Given the description of an element on the screen output the (x, y) to click on. 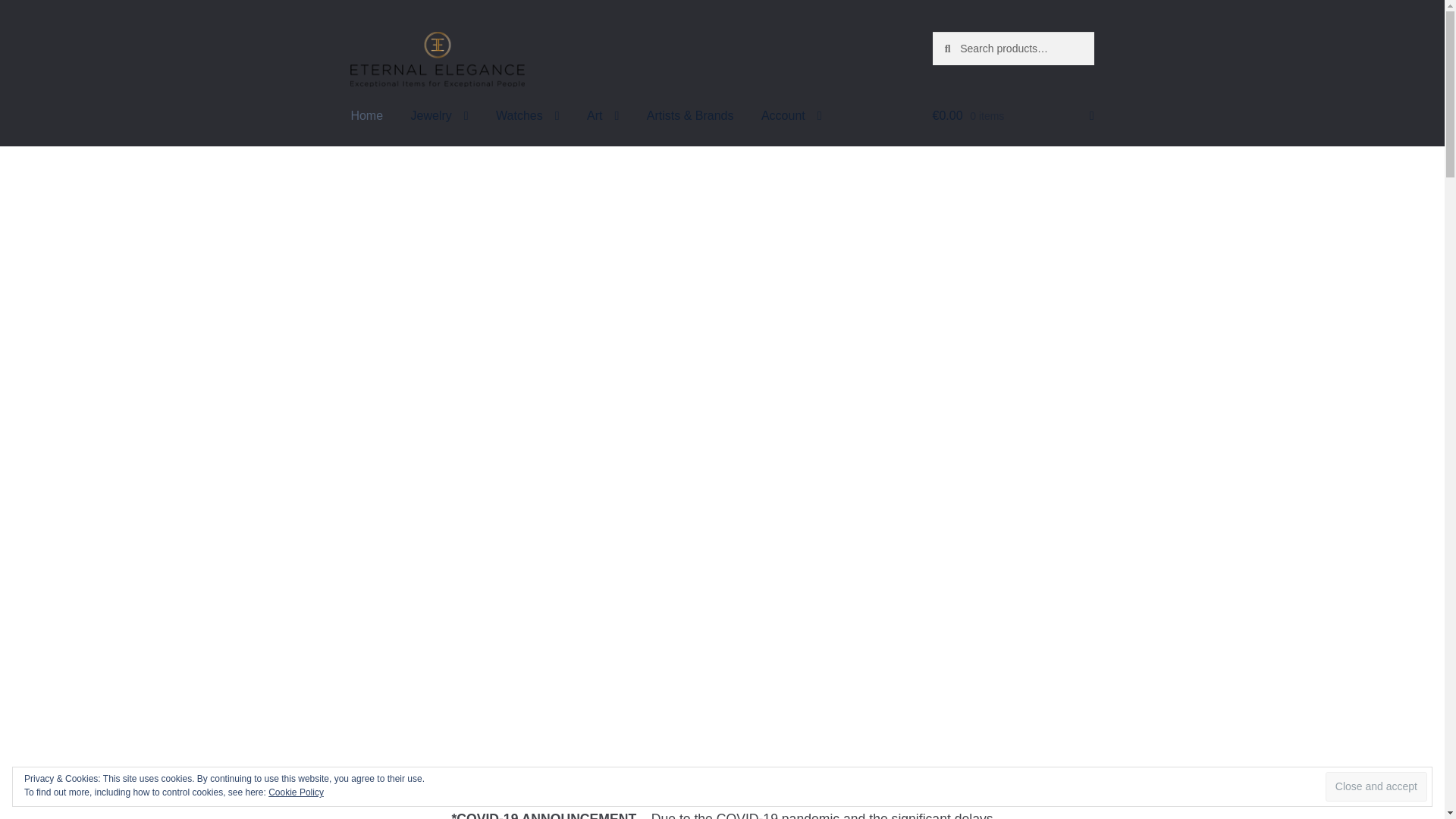
Home (365, 116)
View your shopping cart (1013, 116)
Jewelry (439, 116)
Eternal Elegance (437, 58)
Watches (527, 116)
Close and accept (1375, 786)
